Given the description of an element on the screen output the (x, y) to click on. 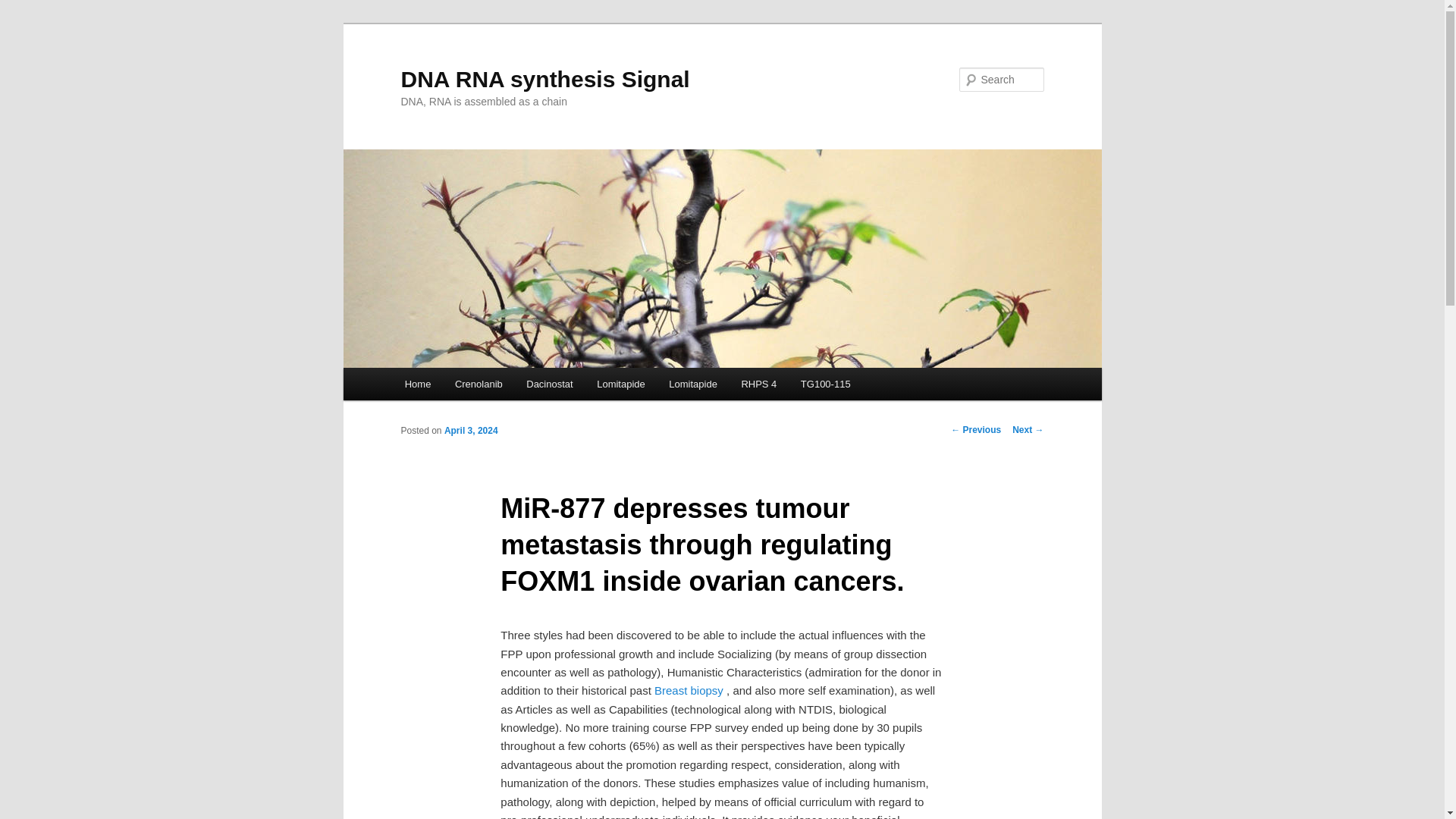
DNA RNA synthesis Signal (544, 78)
2:34 am (470, 430)
Lomitapide (620, 383)
DNA RNA synthesis Signal (544, 78)
TG100-115 (825, 383)
RHPS 4 (759, 383)
Home (417, 383)
Lomitapide (693, 383)
Breast biopsy (688, 689)
Skip to secondary content (479, 386)
Crenolanib (477, 383)
Skip to primary content (472, 386)
Dacinostat (549, 383)
Skip to secondary content (479, 386)
April 3, 2024 (470, 430)
